Given the description of an element on the screen output the (x, y) to click on. 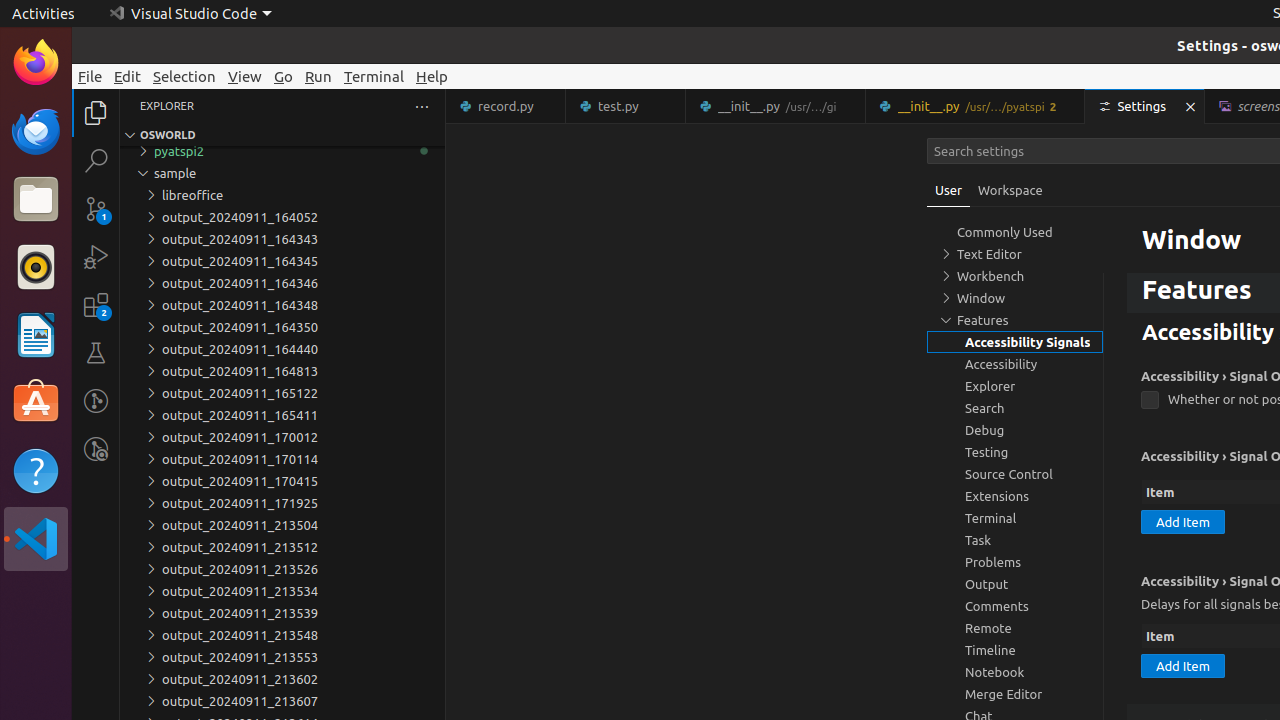
Testing Element type: page-tab (96, 353)
record.py Element type: page-tab (506, 106)
output_20240911_165122 Element type: tree-item (282, 393)
User Element type: check-box (949, 190)
output_20240911_164346 Element type: tree-item (282, 283)
